Given the description of an element on the screen output the (x, y) to click on. 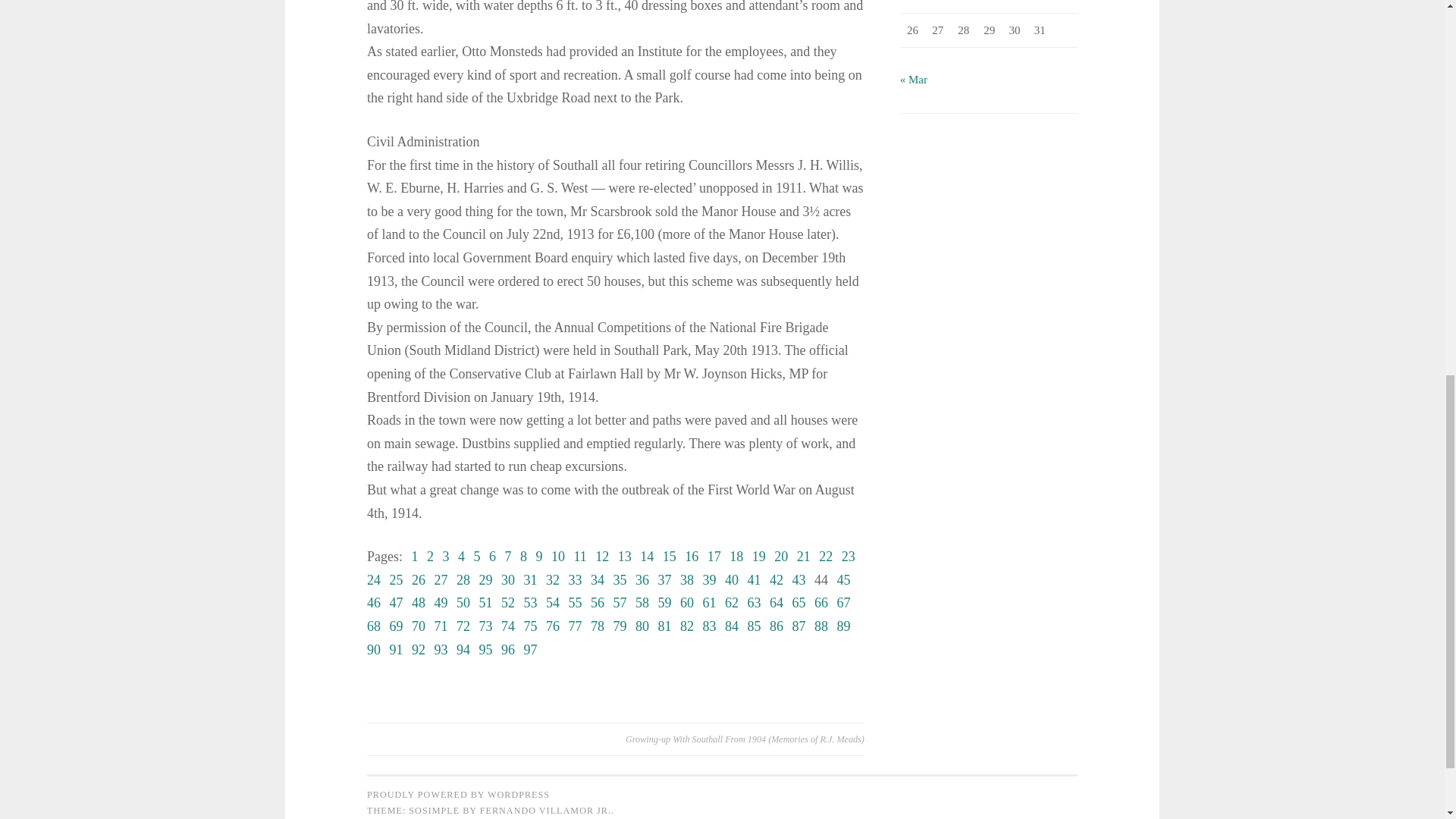
17 (713, 556)
10 (557, 556)
22 (825, 556)
20 (780, 556)
13 (624, 556)
26 (418, 580)
12 (601, 556)
25 (396, 580)
30 (507, 580)
28 (463, 580)
